Given the description of an element on the screen output the (x, y) to click on. 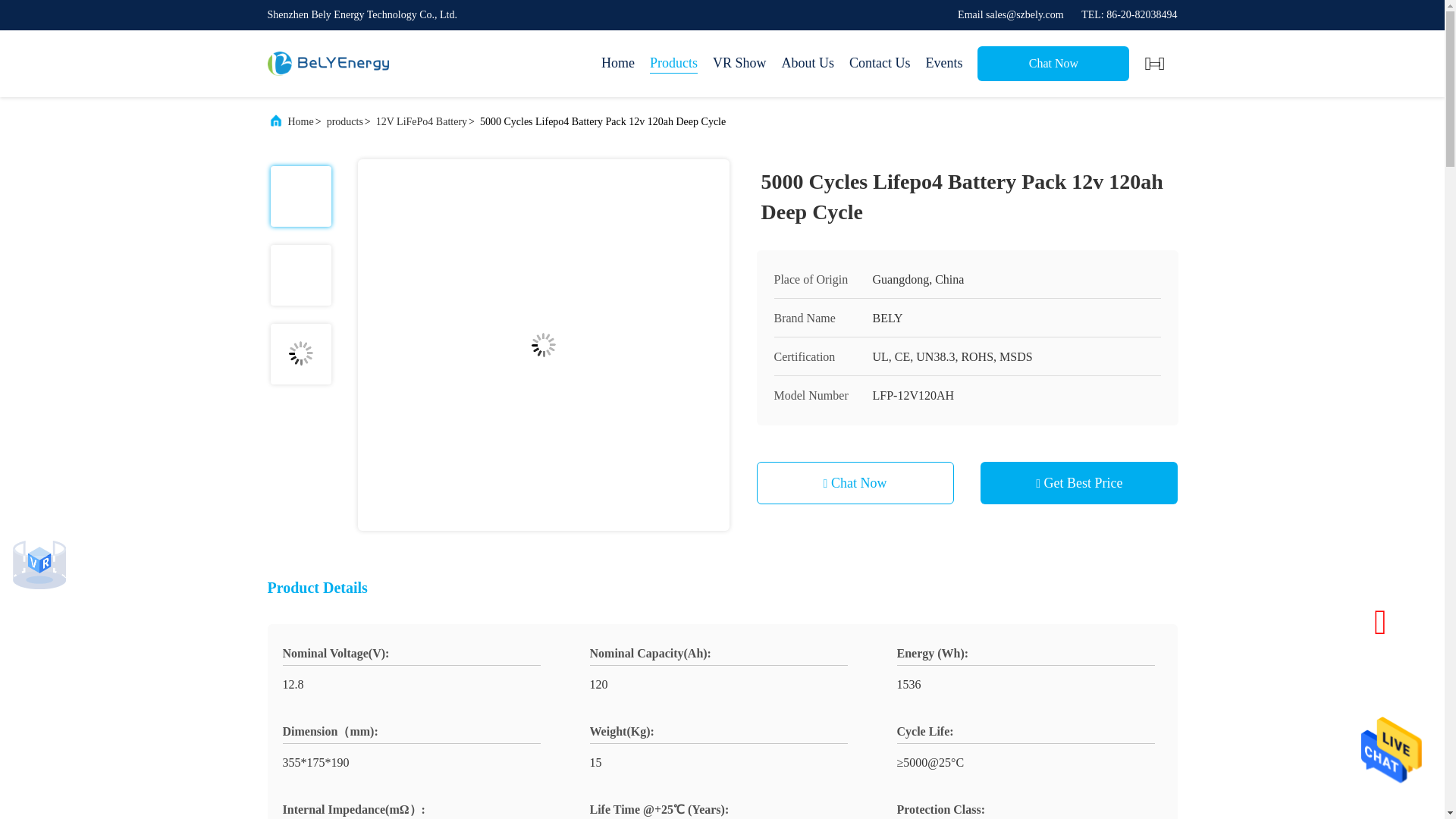
Home (617, 63)
email (1011, 14)
Contact Us (879, 63)
VR Show (740, 63)
Home (327, 63)
Chat Now (1052, 63)
Events (943, 63)
About Us (807, 63)
Products (673, 63)
